Given the description of an element on the screen output the (x, y) to click on. 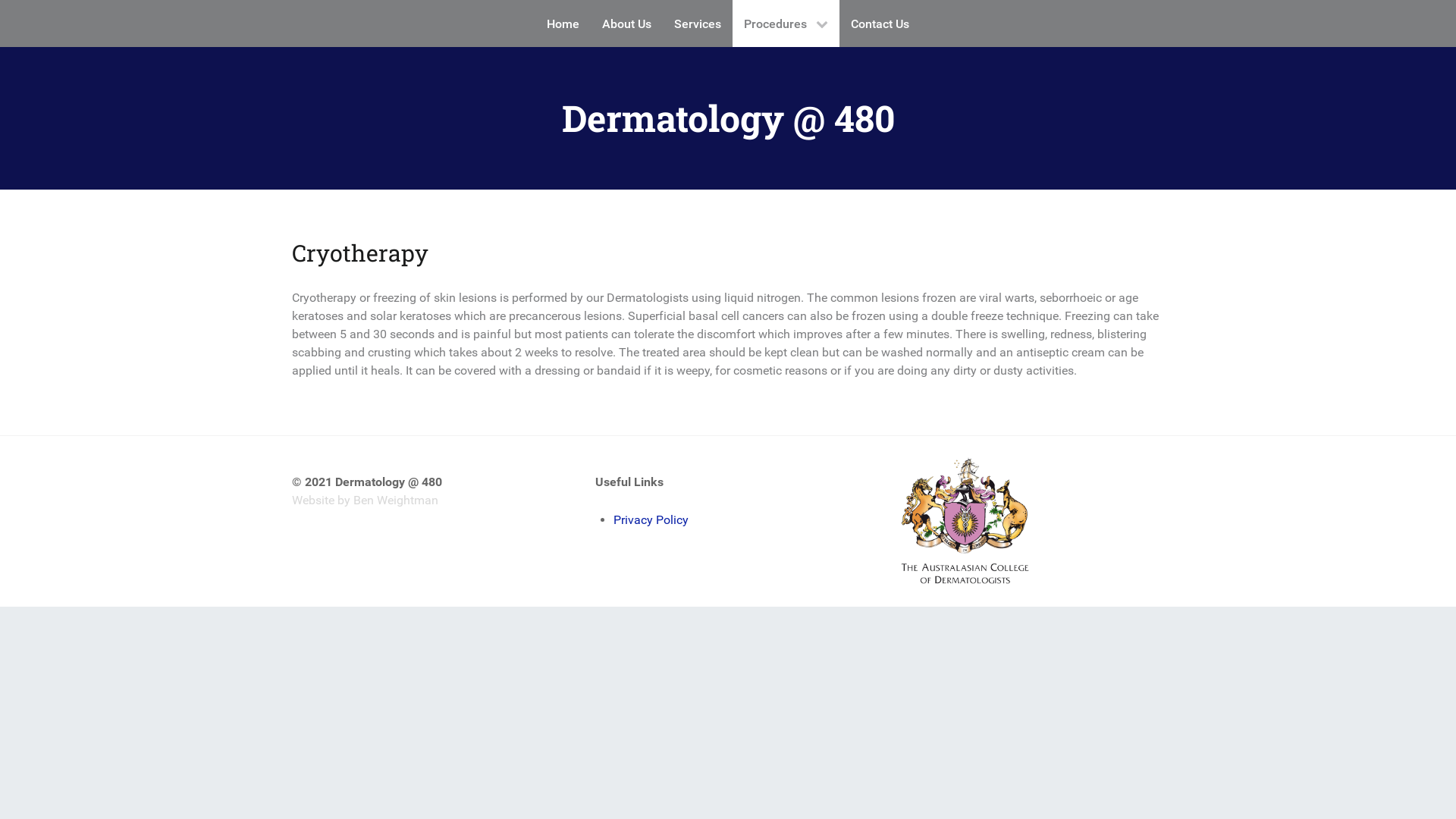
Contact Us Element type: text (879, 23)
Services Element type: text (697, 23)
Privacy Policy Element type: text (650, 519)
Home Element type: text (562, 23)
About Us Element type: text (626, 23)
Procedures Element type: text (785, 23)
